Given the description of an element on the screen output the (x, y) to click on. 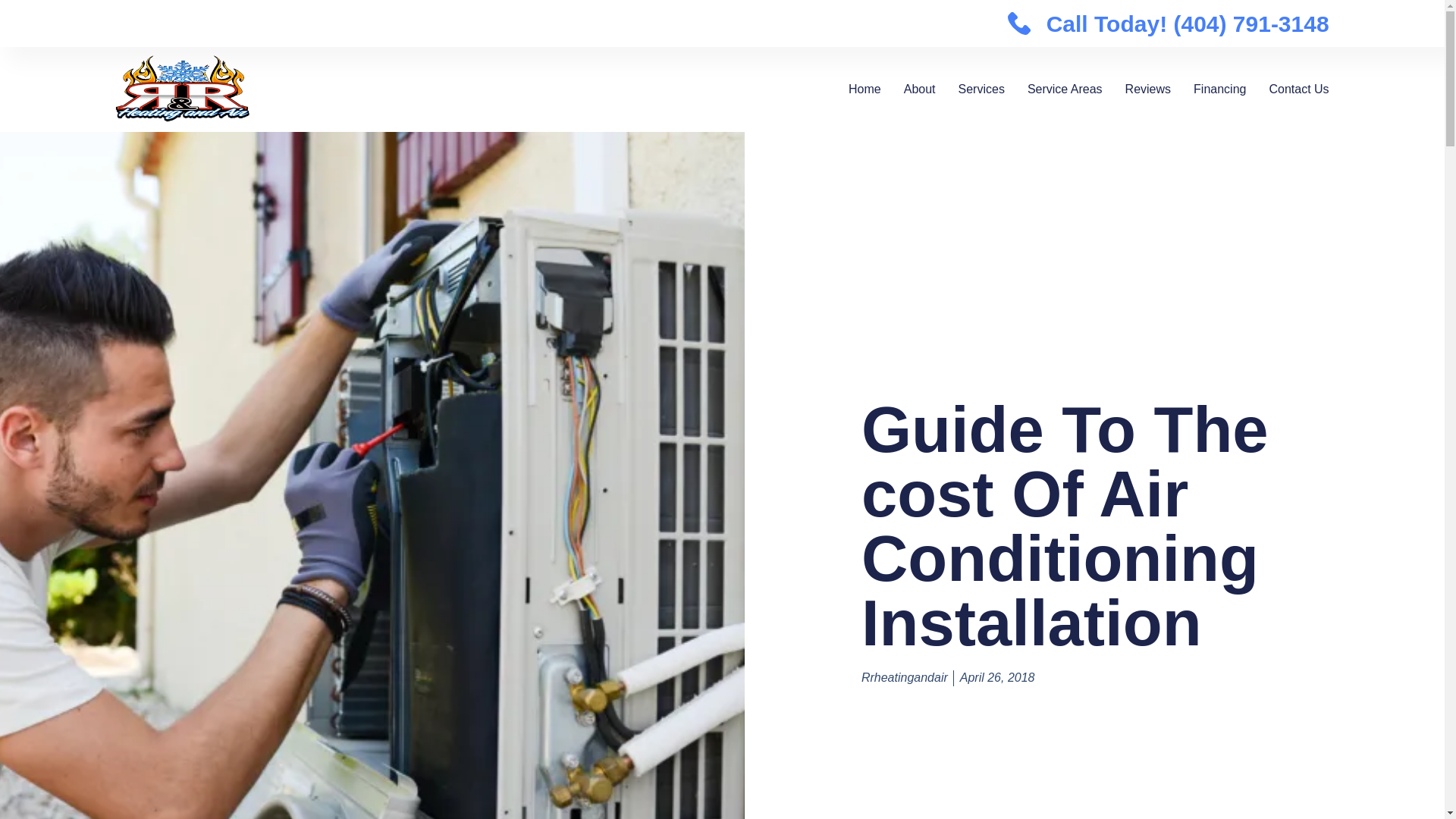
About (920, 89)
Contact Us (1297, 89)
Home (864, 89)
Reviews (1147, 89)
Financing (1219, 89)
Services (981, 89)
Service Areas (1064, 89)
